Given the description of an element on the screen output the (x, y) to click on. 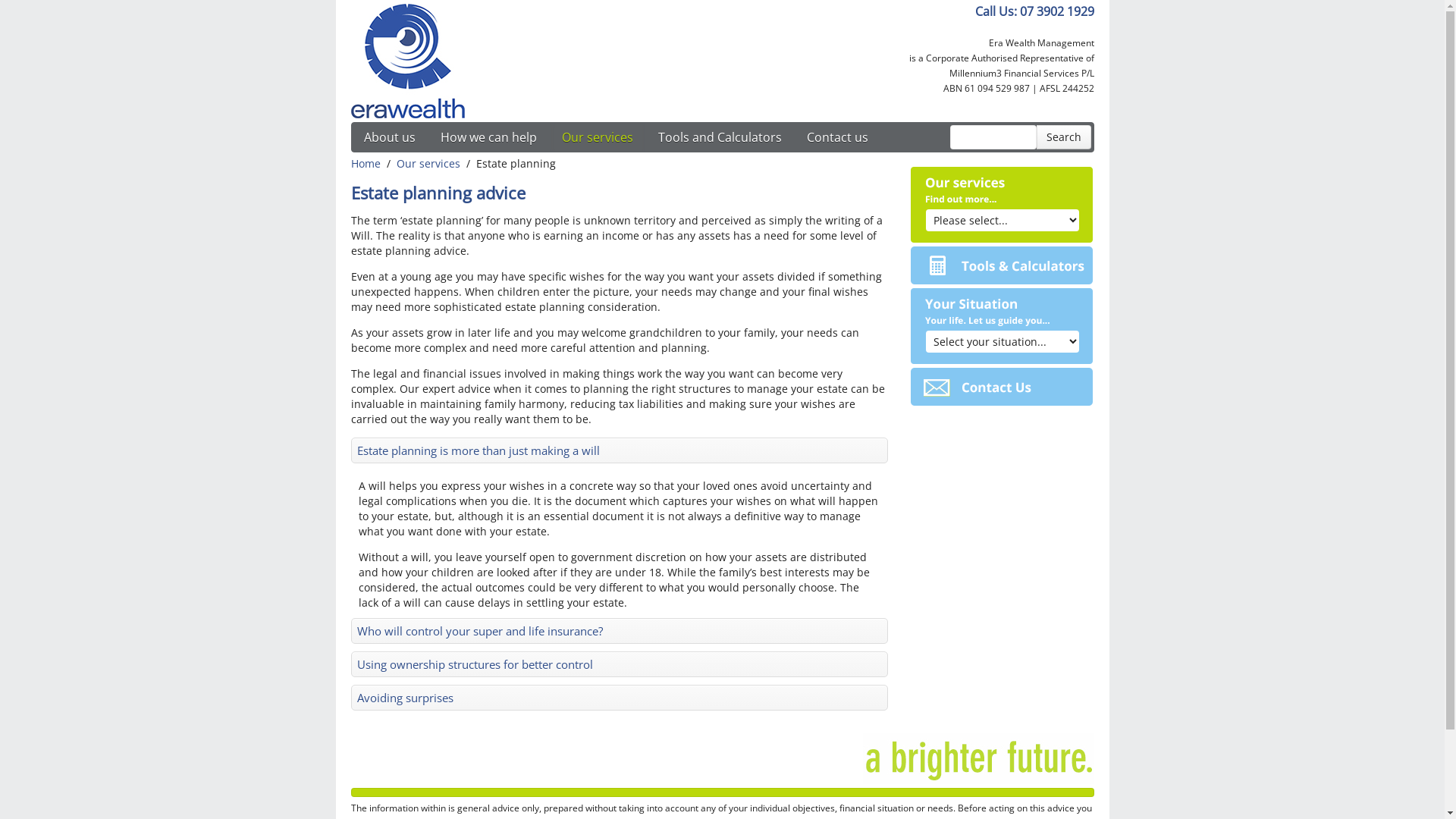
Contact Us Element type: hover (1001, 386)
Tools and Calculators Element type: text (718, 136)
Financial Services Partners Element type: hover (407, 60)
Our services Element type: text (427, 163)
A Brighter Future Element type: hover (978, 758)
Our services Element type: text (597, 136)
Contact us Element type: text (836, 136)
Your Situation Element type: hover (1001, 326)
Search Element type: text (1062, 137)
About us Element type: text (388, 136)
Home Element type: text (364, 163)
Our Services Element type: hover (1001, 204)
How we can help Element type: text (488, 136)
Tools and Calculators Element type: hover (1001, 265)
